Given the description of an element on the screen output the (x, y) to click on. 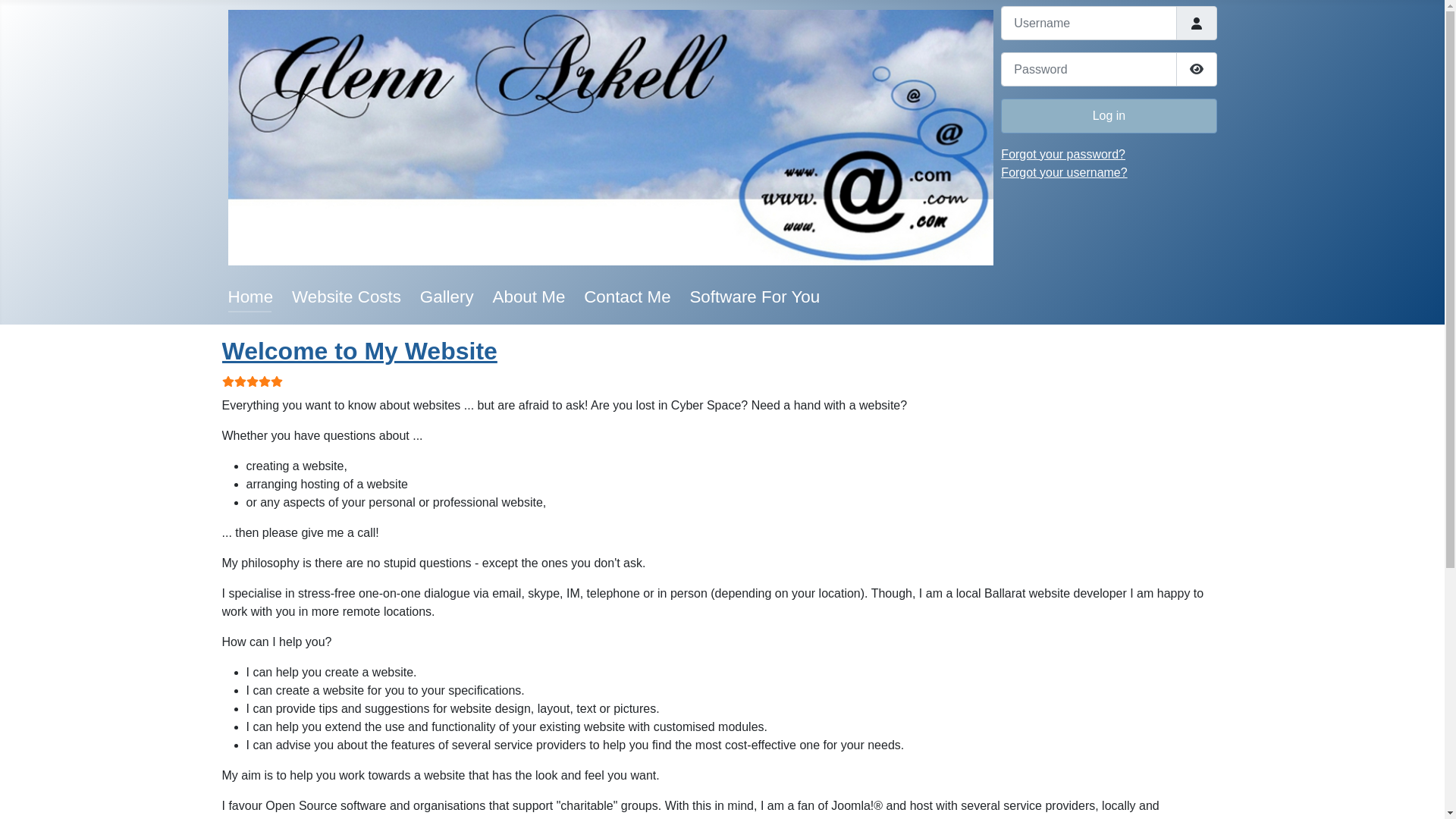
Contact Me Element type: text (627, 296)
Website Costs Element type: text (346, 296)
Show Password Element type: text (1195, 69)
Forgot your username? Element type: text (1063, 172)
About Me Element type: text (528, 296)
Software For You Element type: text (754, 296)
Welcome to My Website Element type: text (358, 350)
Log in Element type: text (1108, 115)
Username Element type: hover (1195, 23)
Forgot your password? Element type: text (1063, 153)
Home Element type: text (250, 296)
Gallery Element type: text (446, 296)
